Given the description of an element on the screen output the (x, y) to click on. 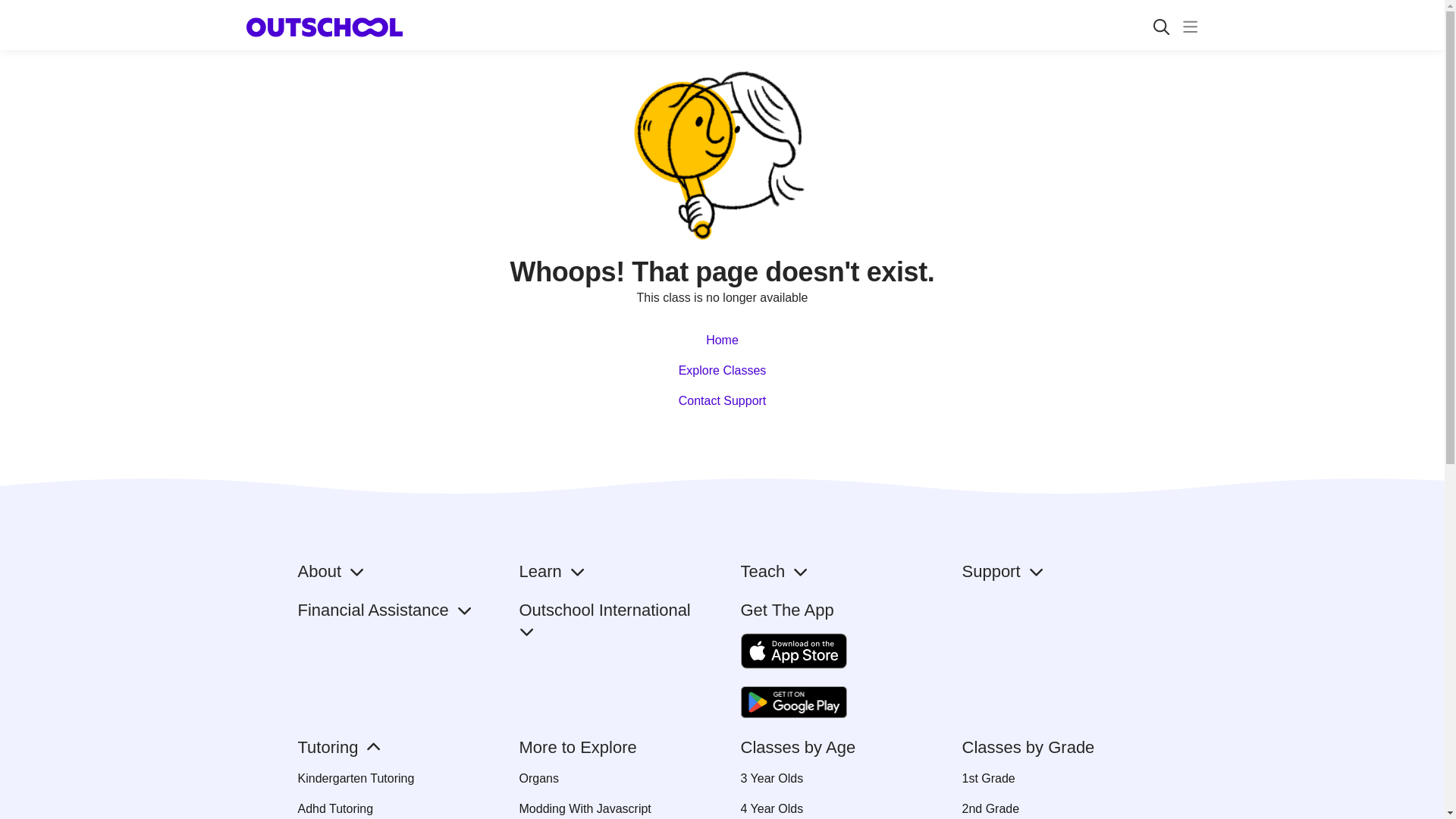
Kindergarten Tutoring (389, 778)
Home (721, 339)
Search (1160, 26)
Explore Classes (721, 370)
Contact Support (721, 400)
Adhd Tutoring (389, 809)
